Given the description of an element on the screen output the (x, y) to click on. 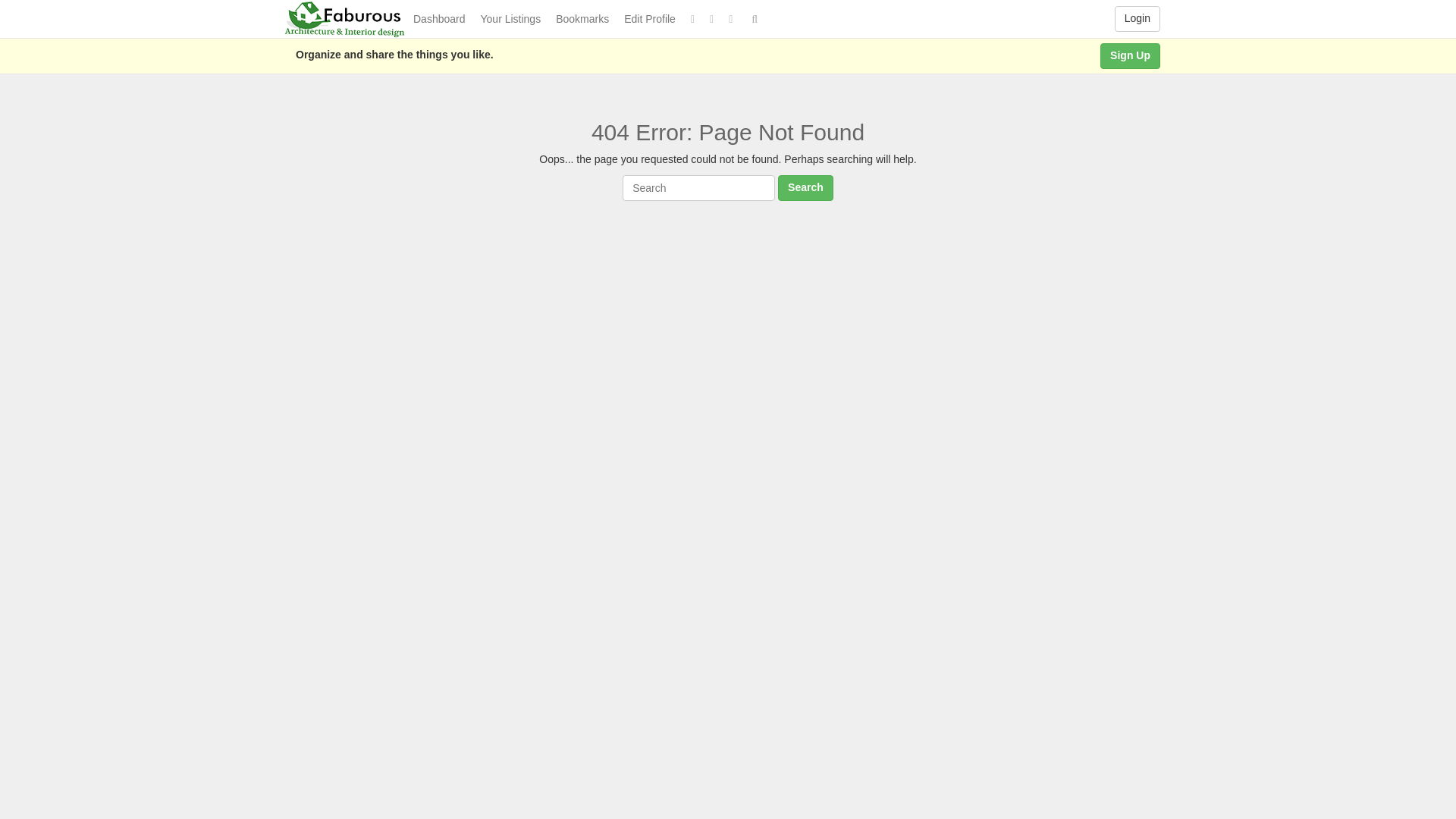
Login (1137, 18)
Dashboard (439, 18)
Bookmarks (581, 18)
Search (804, 187)
Edit Profile (648, 18)
Your Listings (510, 18)
Sign Up (1130, 55)
